Given the description of an element on the screen output the (x, y) to click on. 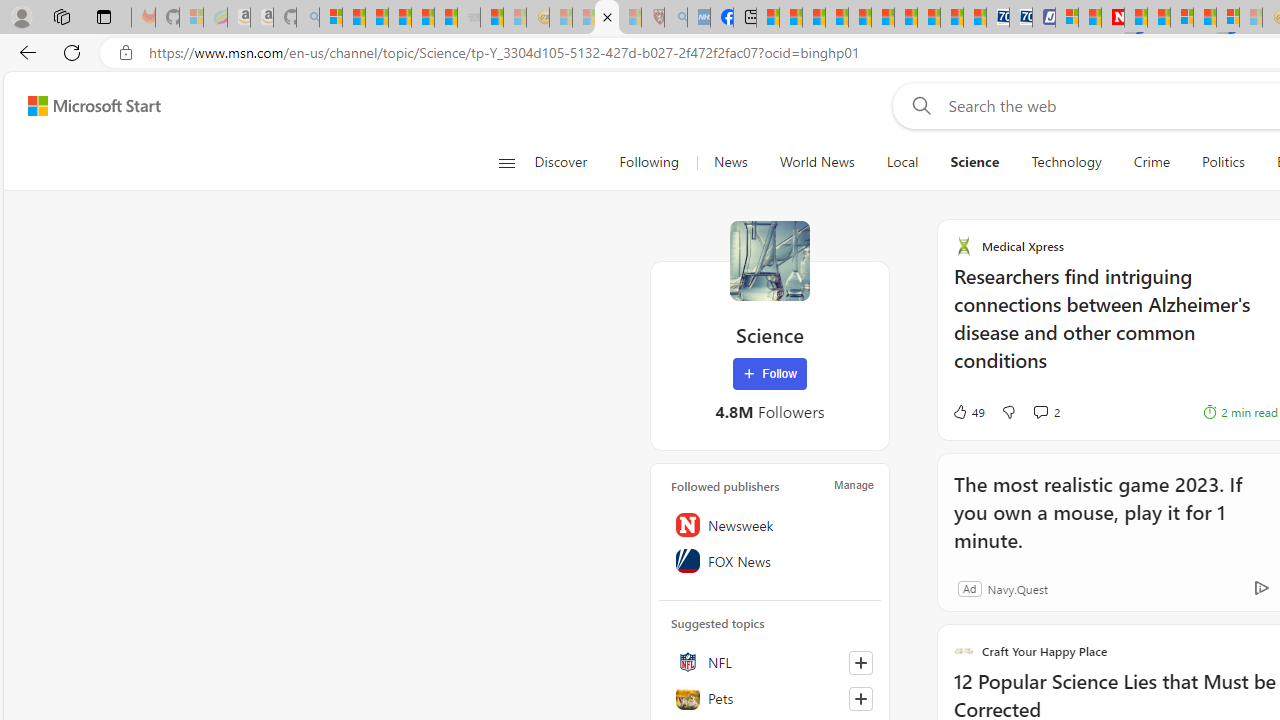
12 Popular Science Lies that Must be Corrected - Sleeping (630, 17)
Climate Damage Becomes Too Severe To Reverse (836, 17)
